Given the description of an element on the screen output the (x, y) to click on. 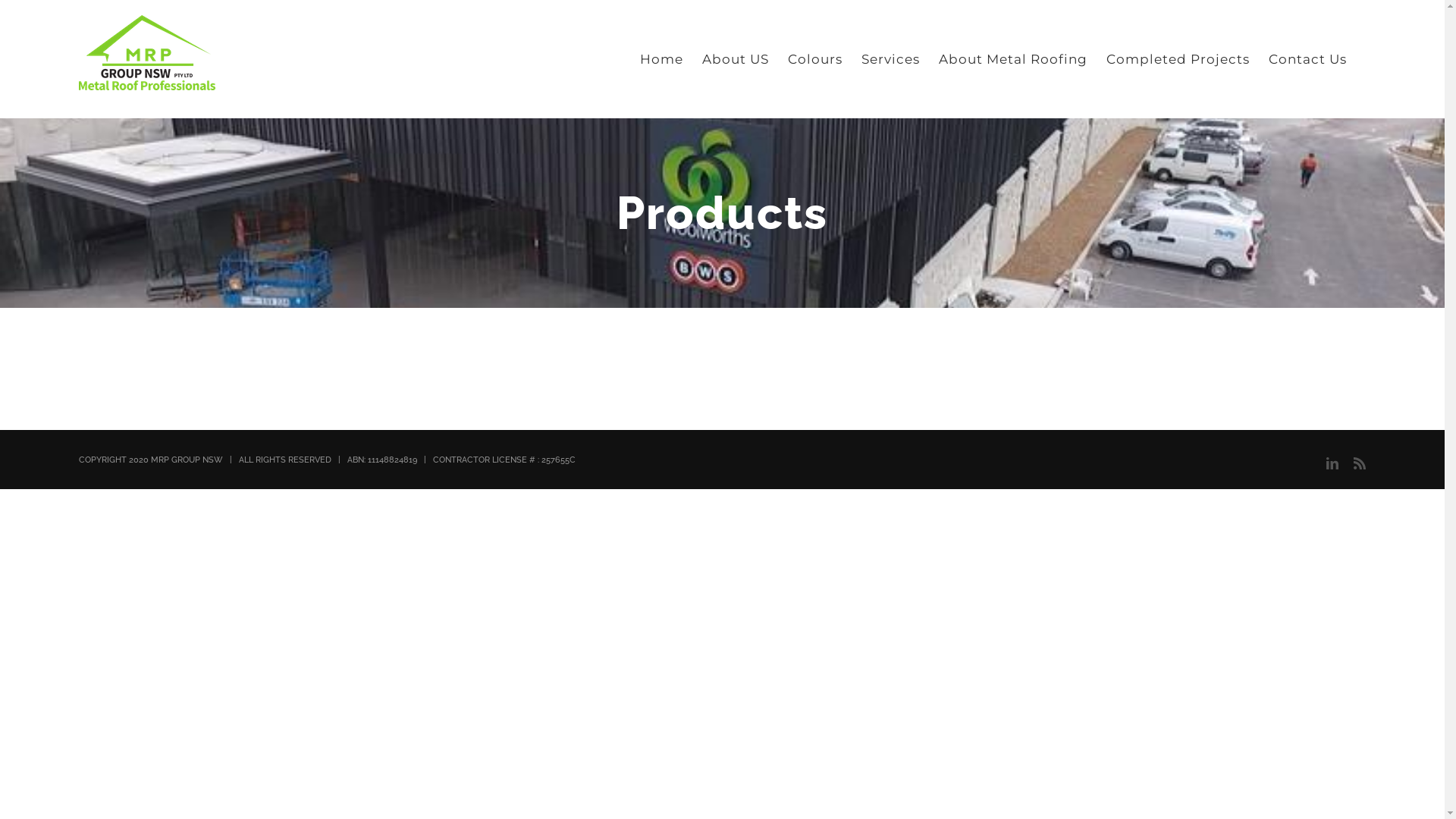
About Metal Roofing Element type: text (1012, 59)
Home Element type: text (661, 59)
Completed Projects Element type: text (1177, 59)
About US Element type: text (735, 59)
Rss Element type: text (1359, 463)
Colours Element type: text (814, 59)
Services Element type: text (890, 59)
Contact Us Element type: text (1307, 59)
LinkedIn Element type: text (1332, 463)
